Given the description of an element on the screen output the (x, y) to click on. 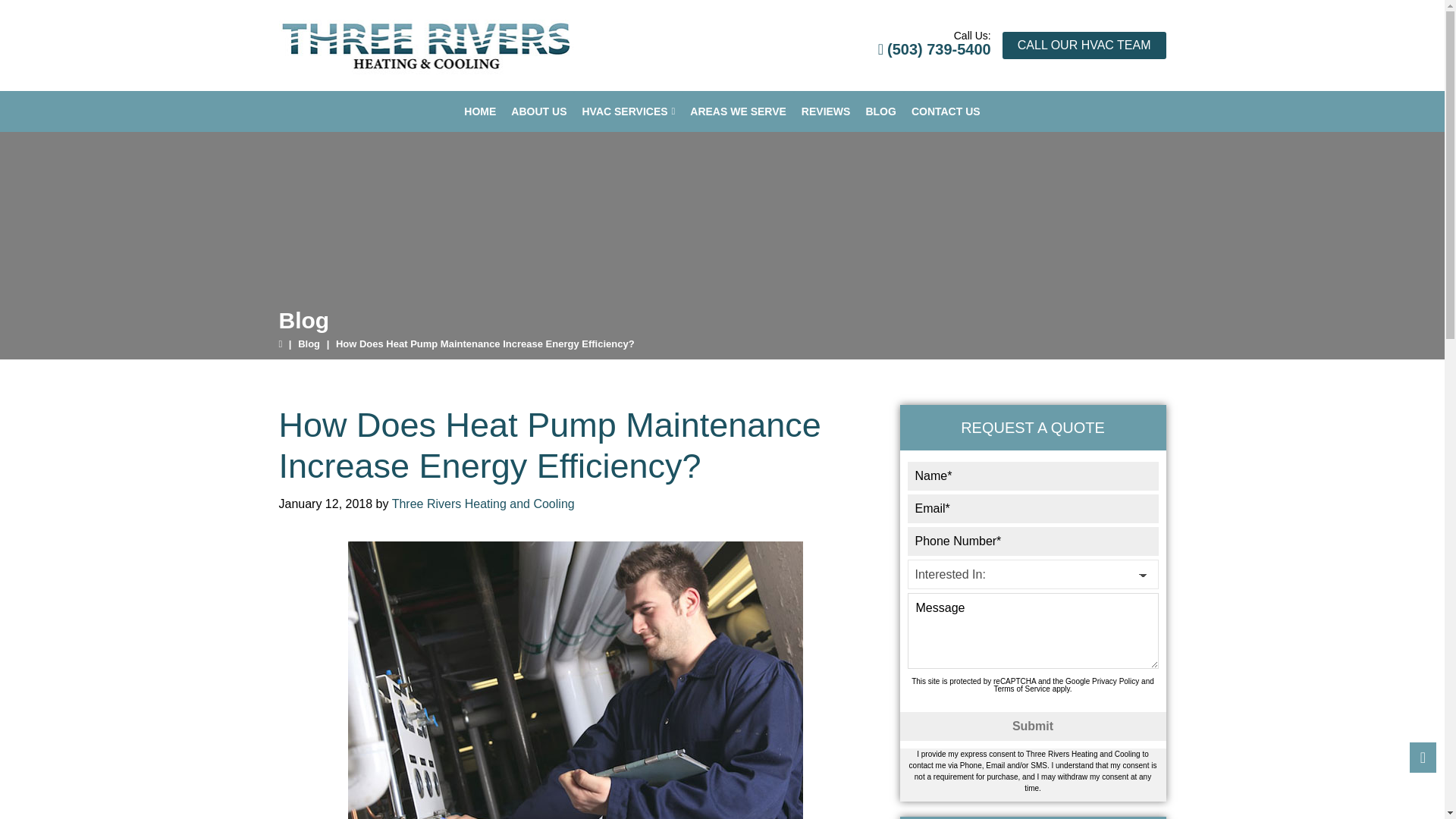
AREAS WE SERVE (737, 110)
ABOUT US (538, 110)
REVIEWS (826, 110)
HVAC SERVICES (627, 110)
CALL OUR HVAC TEAM (1084, 44)
BLOG (879, 110)
HOME (480, 110)
CONTACT US (946, 110)
Three Rivers Heating and Cooling (427, 45)
Submit (1032, 726)
